Given the description of an element on the screen output the (x, y) to click on. 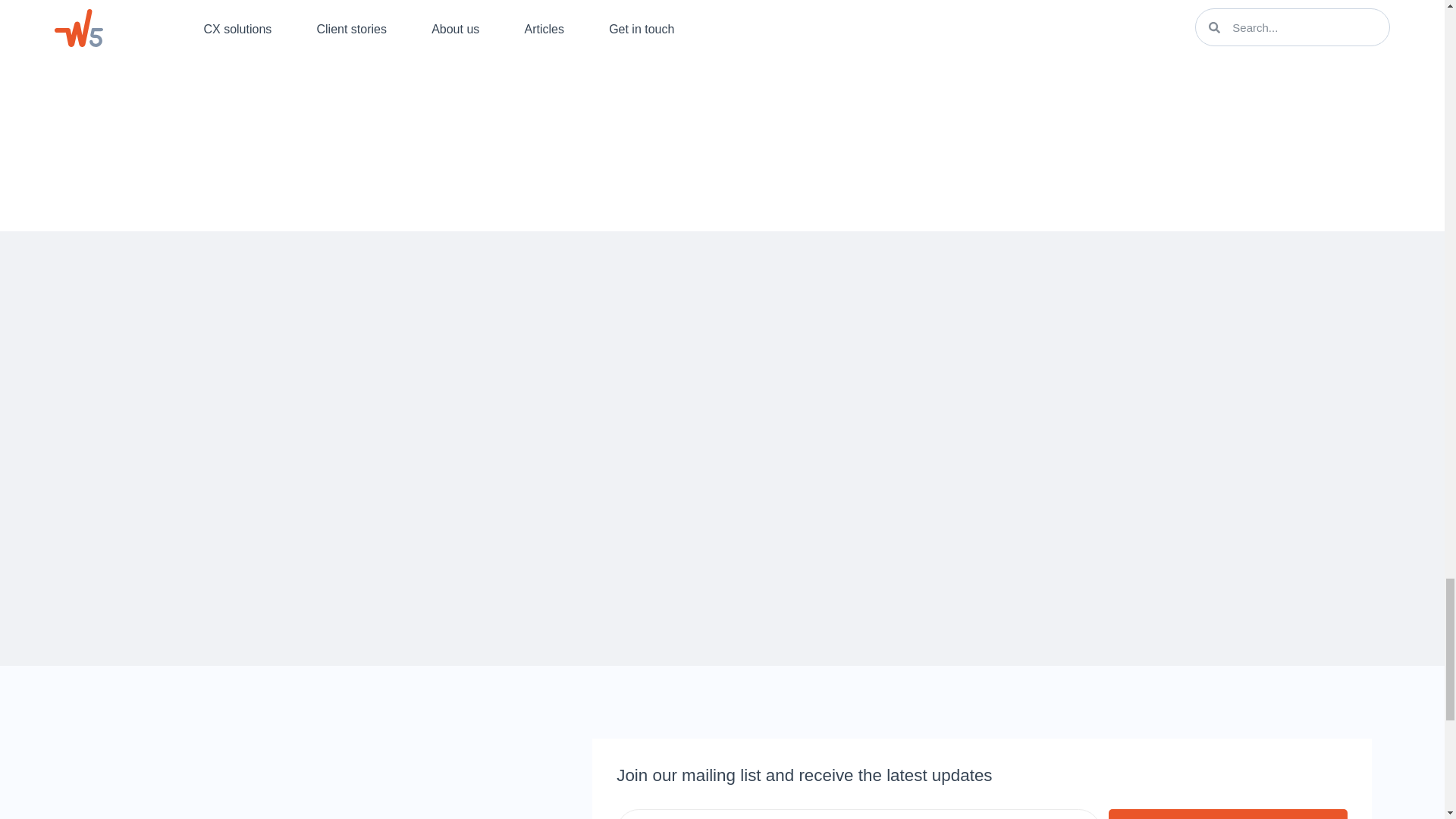
Subscribe (1228, 814)
